Given the description of an element on the screen output the (x, y) to click on. 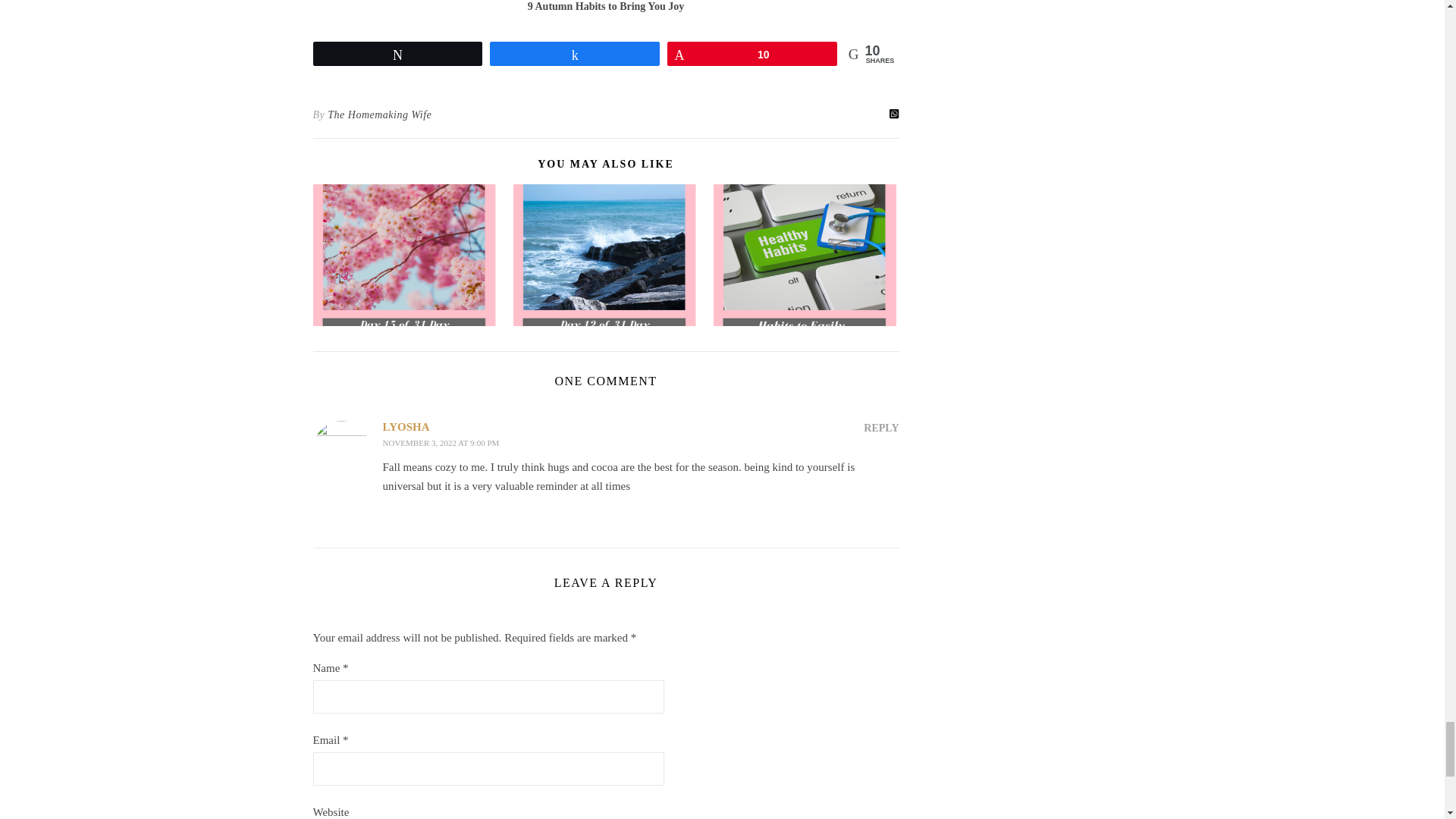
The Homemaking Wife (378, 115)
Posts by The Homemaking Wife (378, 115)
10 (751, 53)
